Given the description of an element on the screen output the (x, y) to click on. 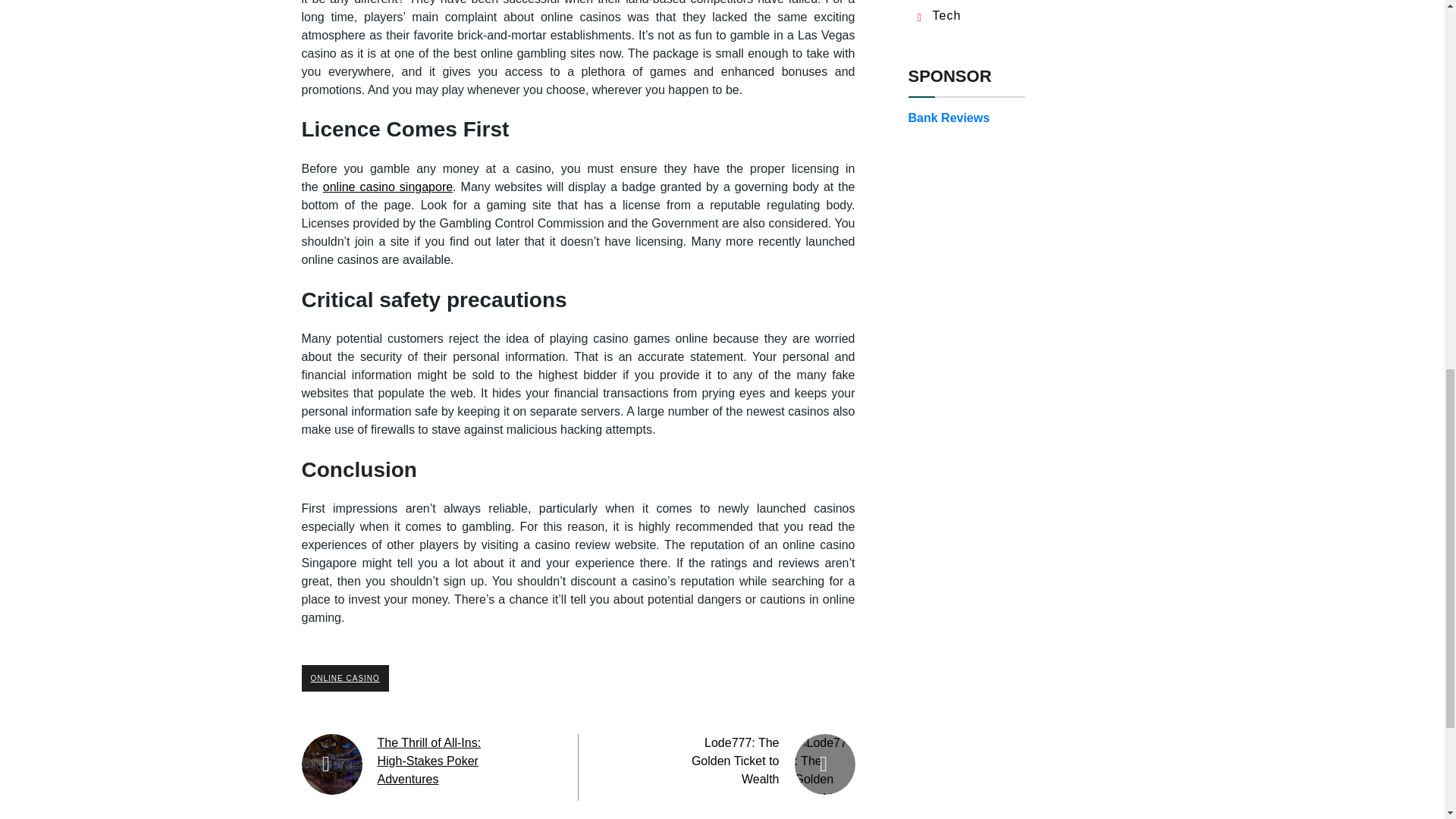
The Thrill of All-Ins: High-Stakes Poker Adventures (429, 760)
ONLINE CASINO (344, 678)
online casino singapore (387, 186)
Tech (946, 15)
Lode777: The Golden Ticket to Wealth (734, 760)
Bank Reviews (949, 117)
